Given the description of an element on the screen output the (x, y) to click on. 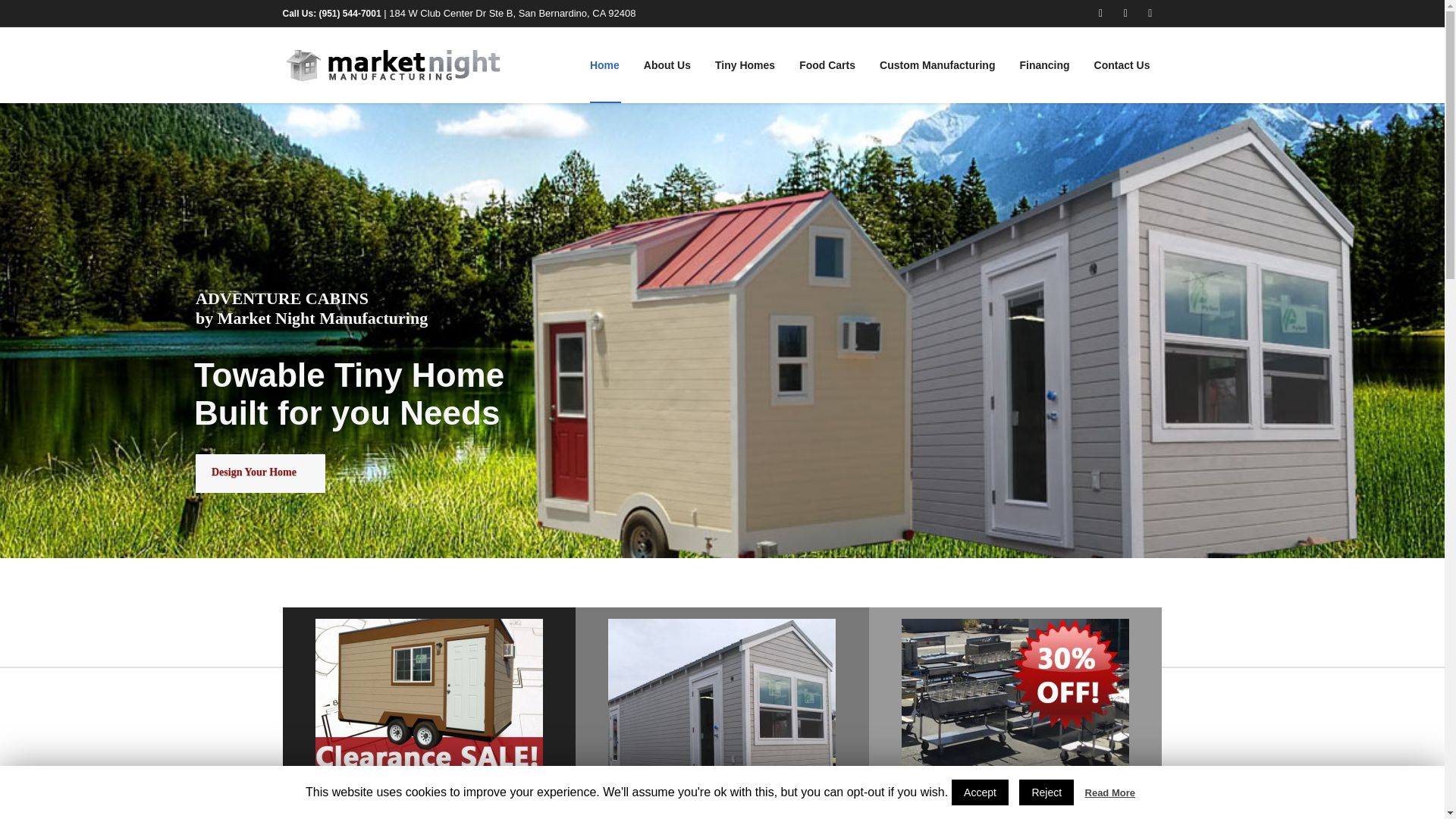
Financing (1044, 65)
Tiny Homes (745, 65)
Twitter (1149, 13)
Instagram (1125, 13)
Custom Manufacturing (937, 65)
Contact Us (1121, 65)
About Us (667, 65)
Facebook (1100, 13)
Food Carts (827, 65)
